Given the description of an element on the screen output the (x, y) to click on. 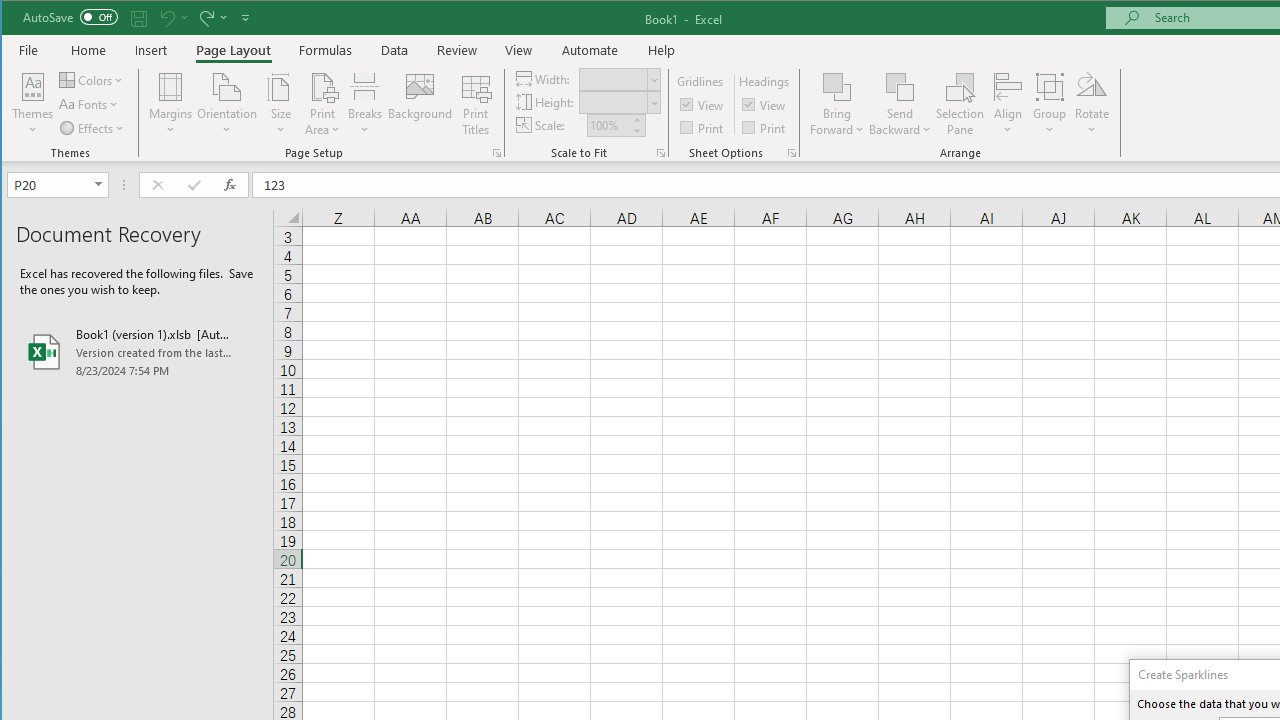
Undo (172, 17)
Print (765, 126)
Formulas (326, 50)
Print Area (323, 104)
Page Setup (660, 152)
Page Layout (233, 50)
Width (612, 79)
Margins (170, 104)
Home (88, 50)
Orientation (226, 104)
Scale (607, 125)
Send Backward (900, 86)
Book1 (version 1).xlsb  [AutoRecovered] (137, 352)
Insert (151, 50)
Themes (33, 104)
